Given the description of an element on the screen output the (x, y) to click on. 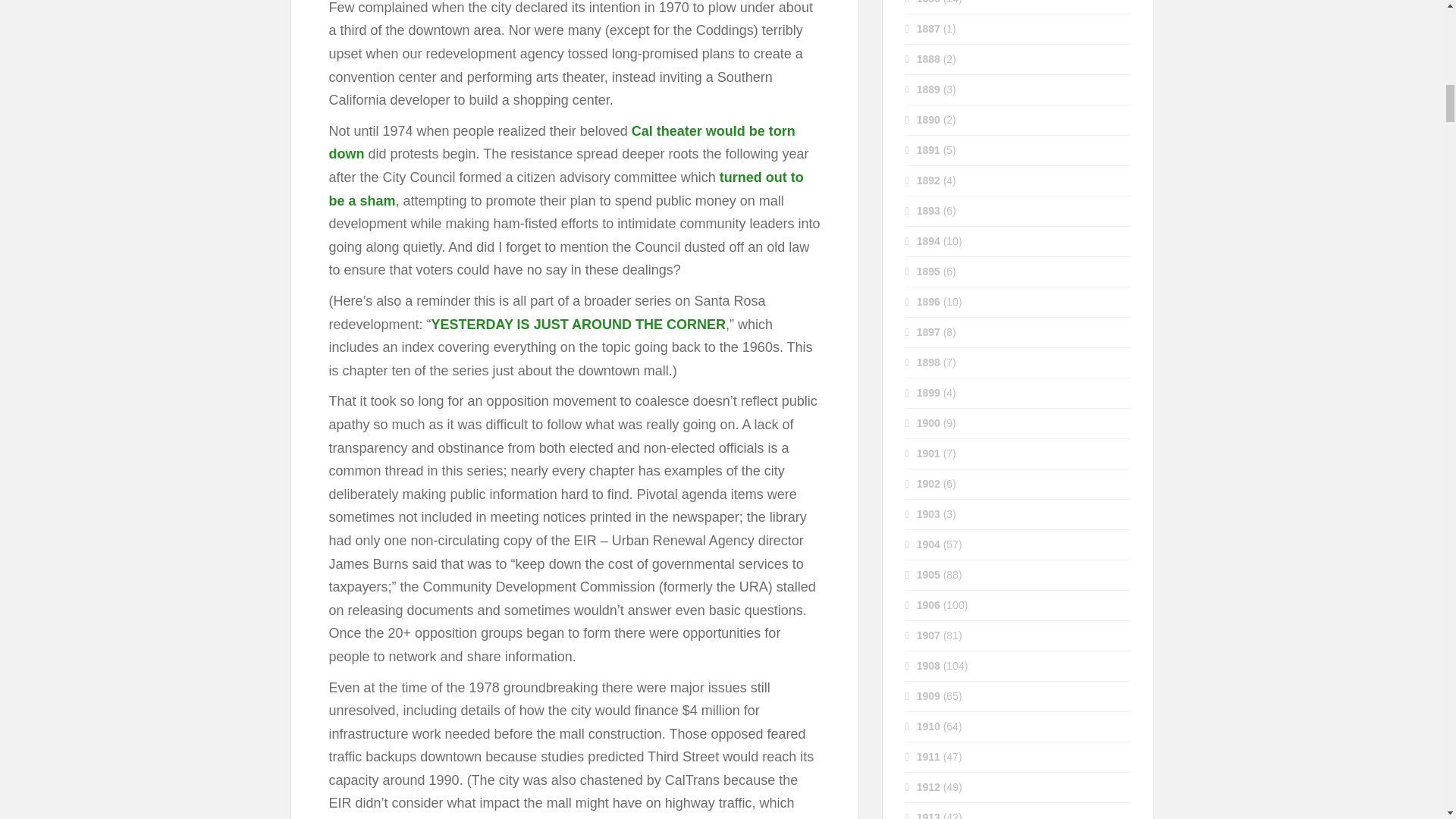
Cal theater would be torn down (561, 142)
YESTERDAY IS JUST AROUND THE CORNER (577, 324)
turned out to be a sham (566, 188)
